Given the description of an element on the screen output the (x, y) to click on. 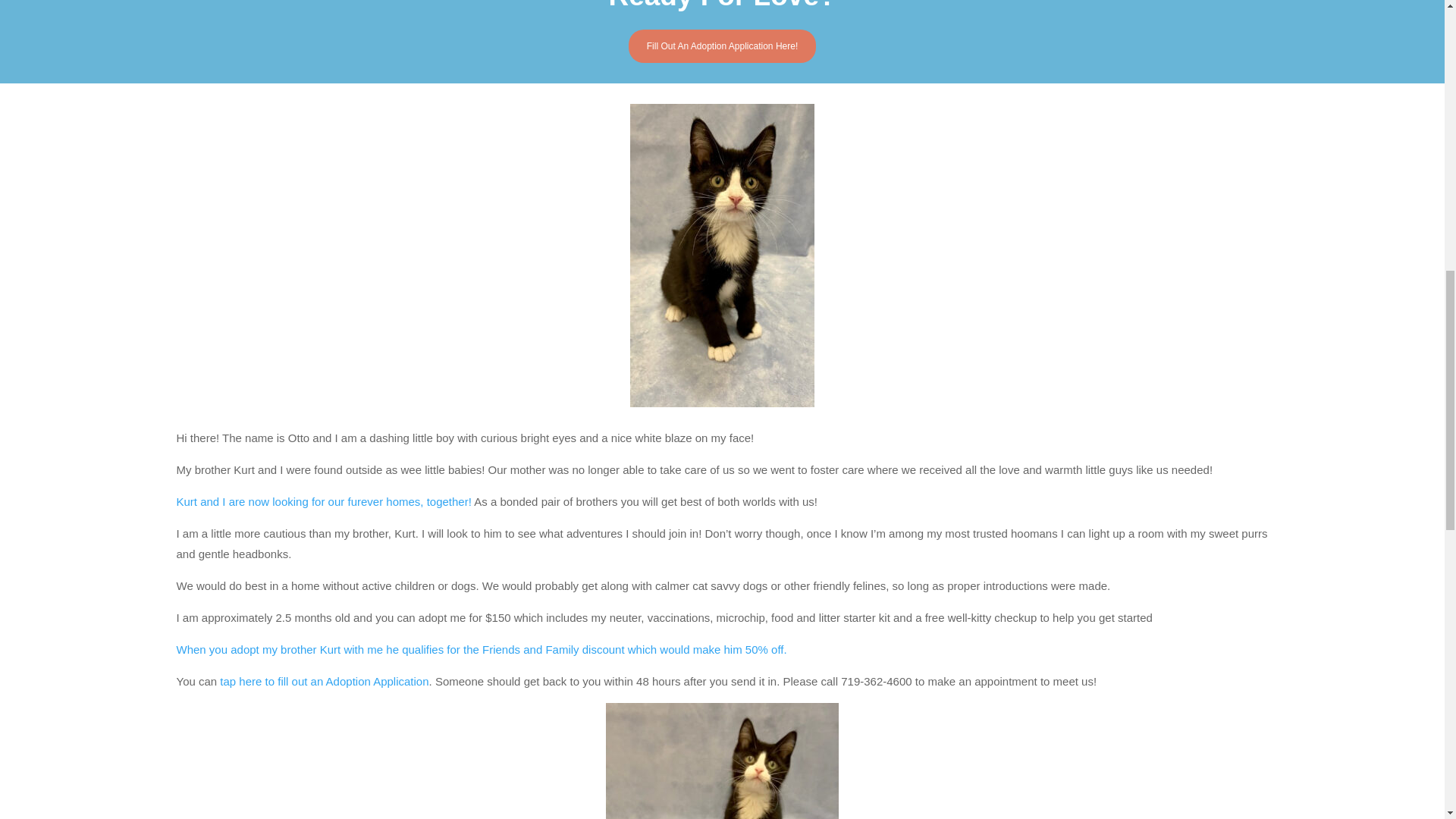
Adoption Application (323, 680)
